Given the description of an element on the screen output the (x, y) to click on. 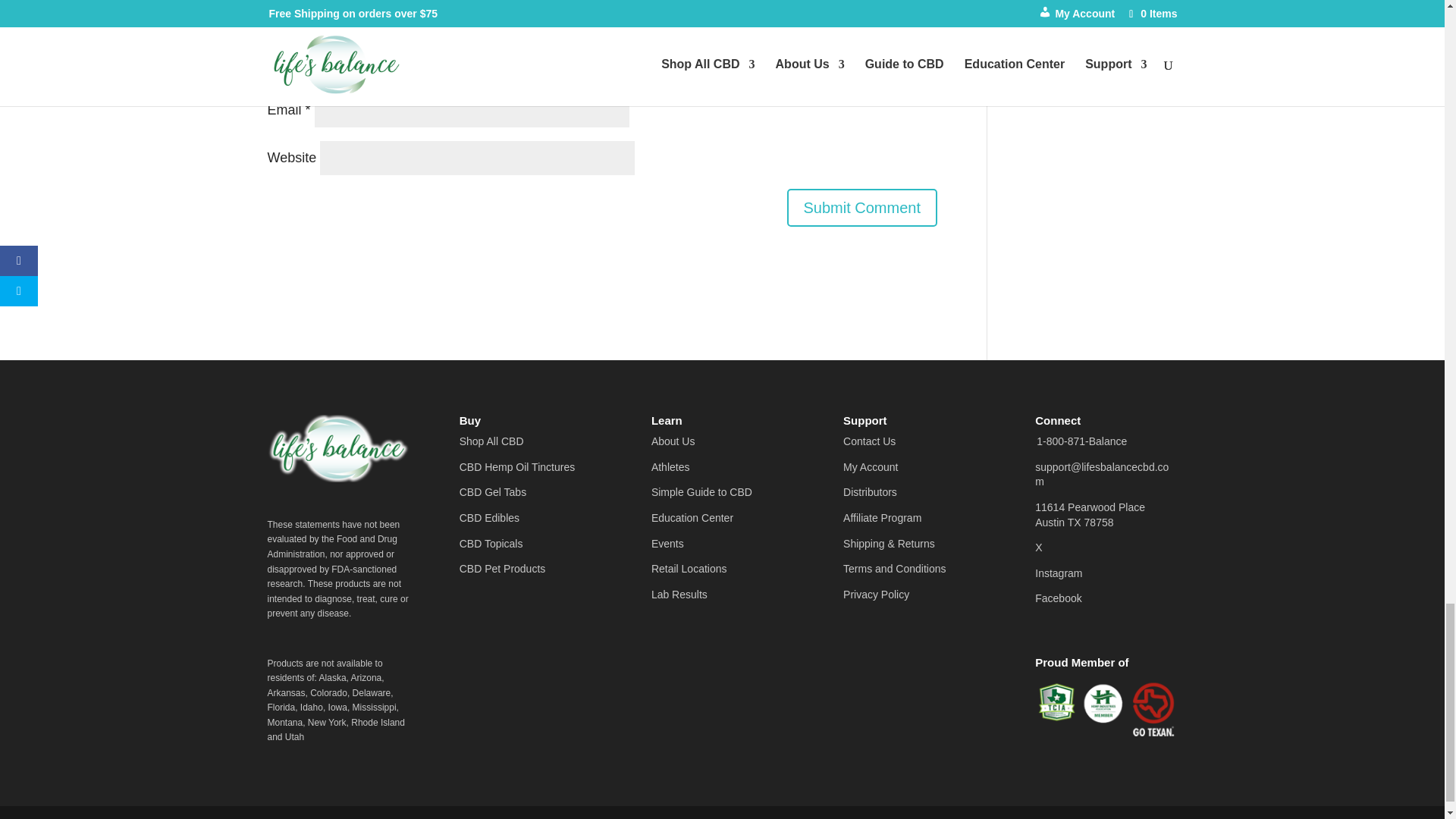
Contact Us (869, 440)
About Us (672, 440)
CBD Edibles (489, 517)
Events (667, 543)
Submit Comment (862, 207)
My Account (870, 467)
Submit Comment (862, 207)
CBD Gel Tabs (492, 491)
CBD Hemp Oil Tinctures (517, 467)
Distributors (869, 491)
